Given the description of an element on the screen output the (x, y) to click on. 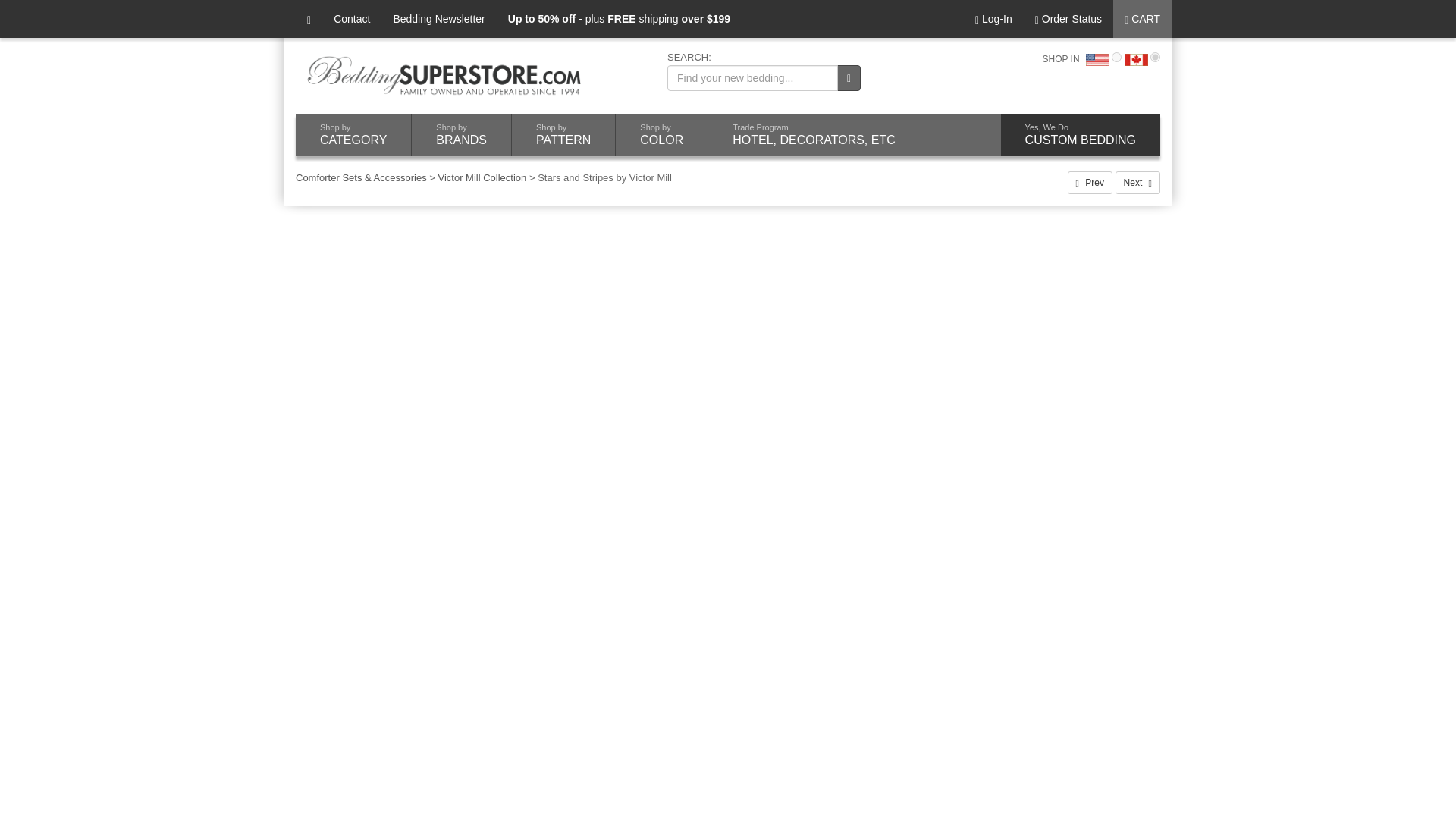
2 (1155, 57)
Log-In (993, 18)
Order Status (1068, 18)
Bedding Newsletter (438, 18)
Contact (351, 18)
1 (352, 134)
CART (461, 134)
